Given the description of an element on the screen output the (x, y) to click on. 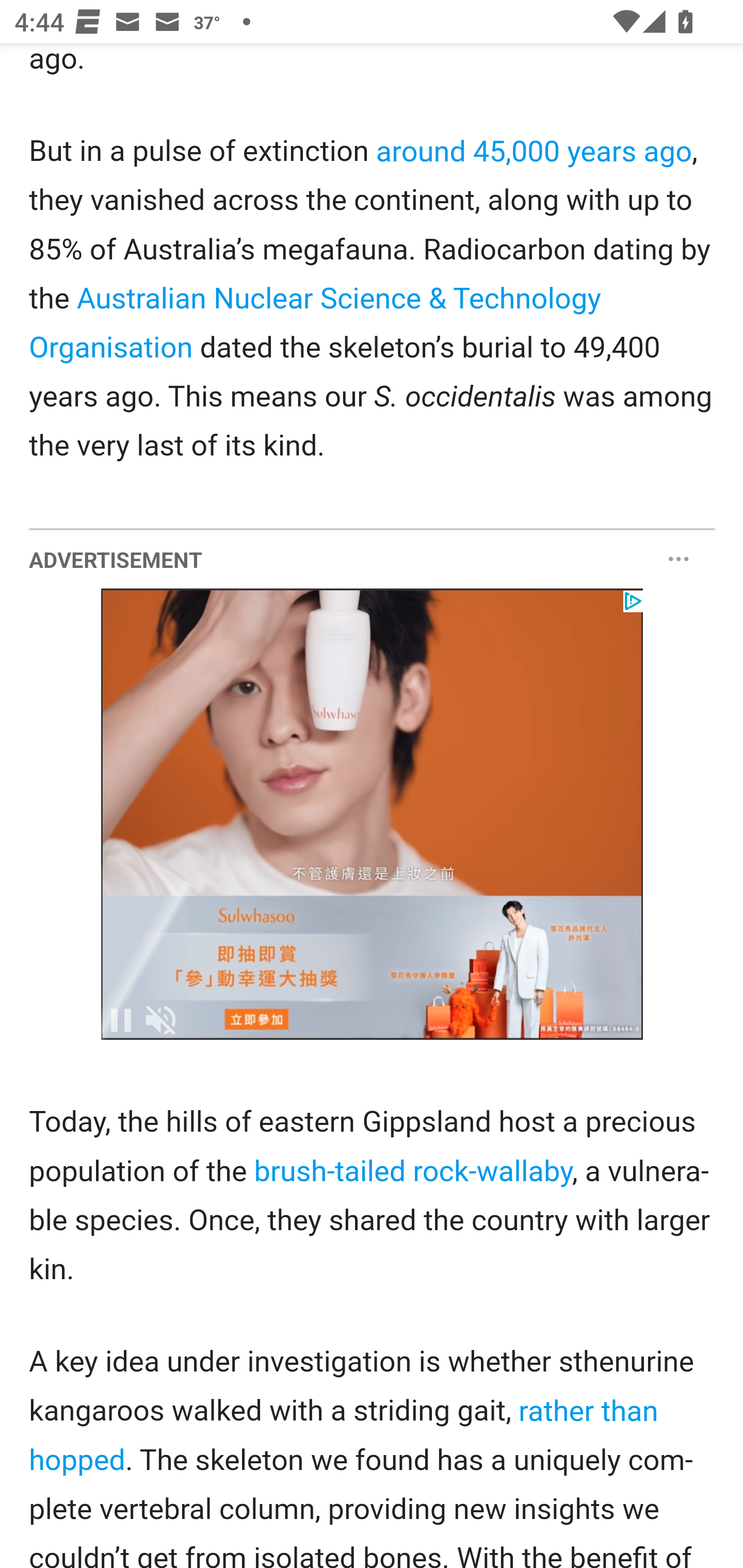
around 45,000 years ago (534, 151)
brush-tailed rock-wallaby (412, 1170)
rather than hopped (343, 1434)
